Given the description of an element on the screen output the (x, y) to click on. 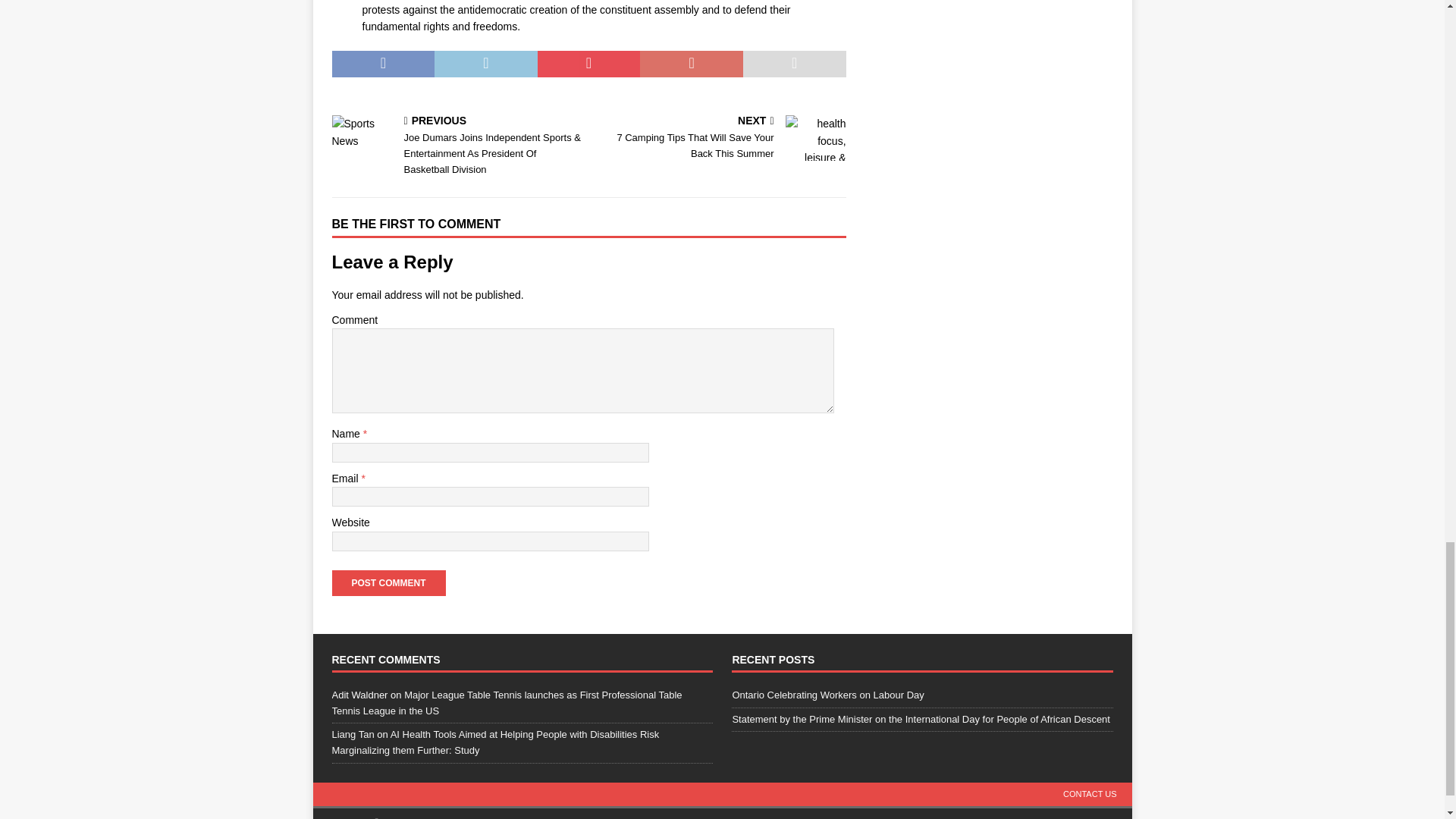
Post Comment (388, 583)
Liang Tan (352, 734)
Post Comment (720, 138)
Ontario Celebrating Workers on Labour Day (388, 583)
